Given the description of an element on the screen output the (x, y) to click on. 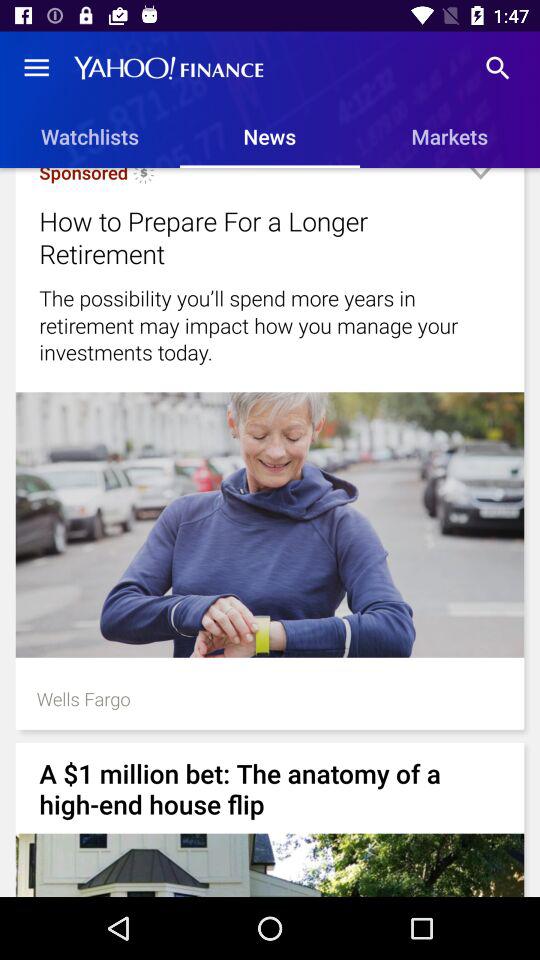
choose item above the wells fargo item (269, 524)
